Given the description of an element on the screen output the (x, y) to click on. 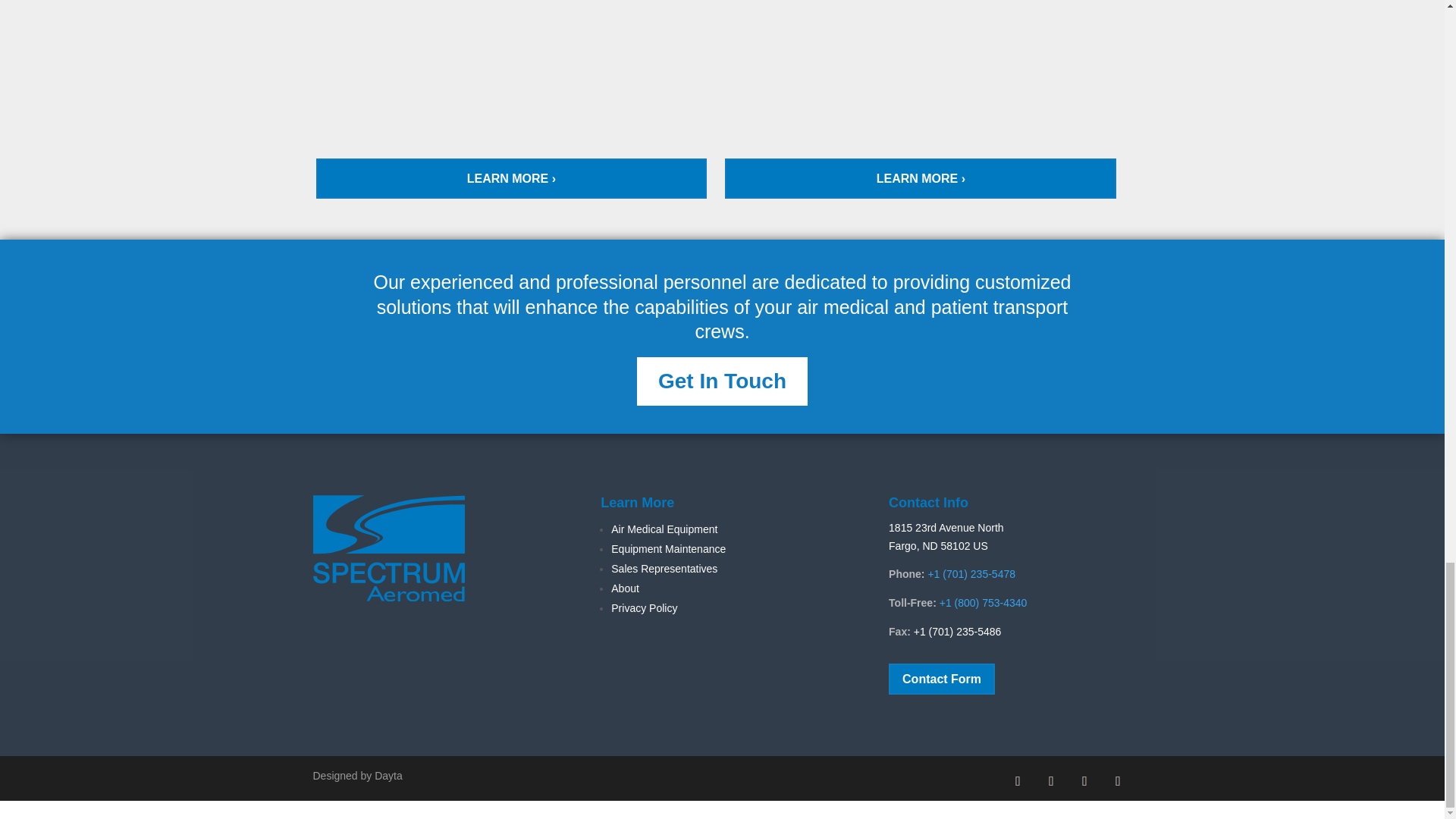
Follow on Facebook (1017, 780)
Follow on X (1050, 780)
Follow on LinkedIn (1083, 780)
Follow on Youtube (1117, 780)
Spectrum-Logo-2 (388, 548)
